Given the description of an element on the screen output the (x, y) to click on. 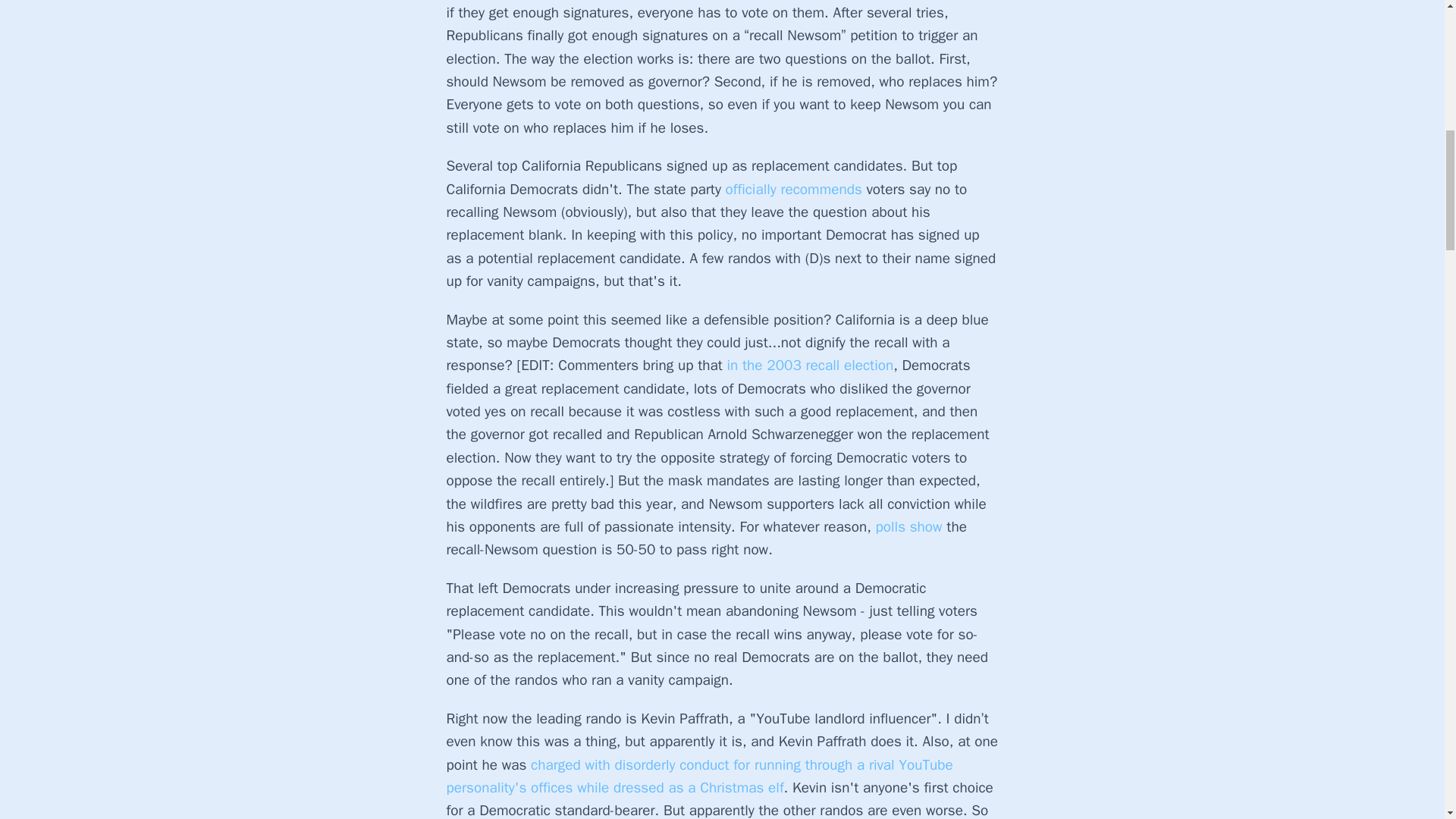
officially recommends (793, 189)
polls show (909, 526)
in the 2003 recall election (809, 365)
